Given the description of an element on the screen output the (x, y) to click on. 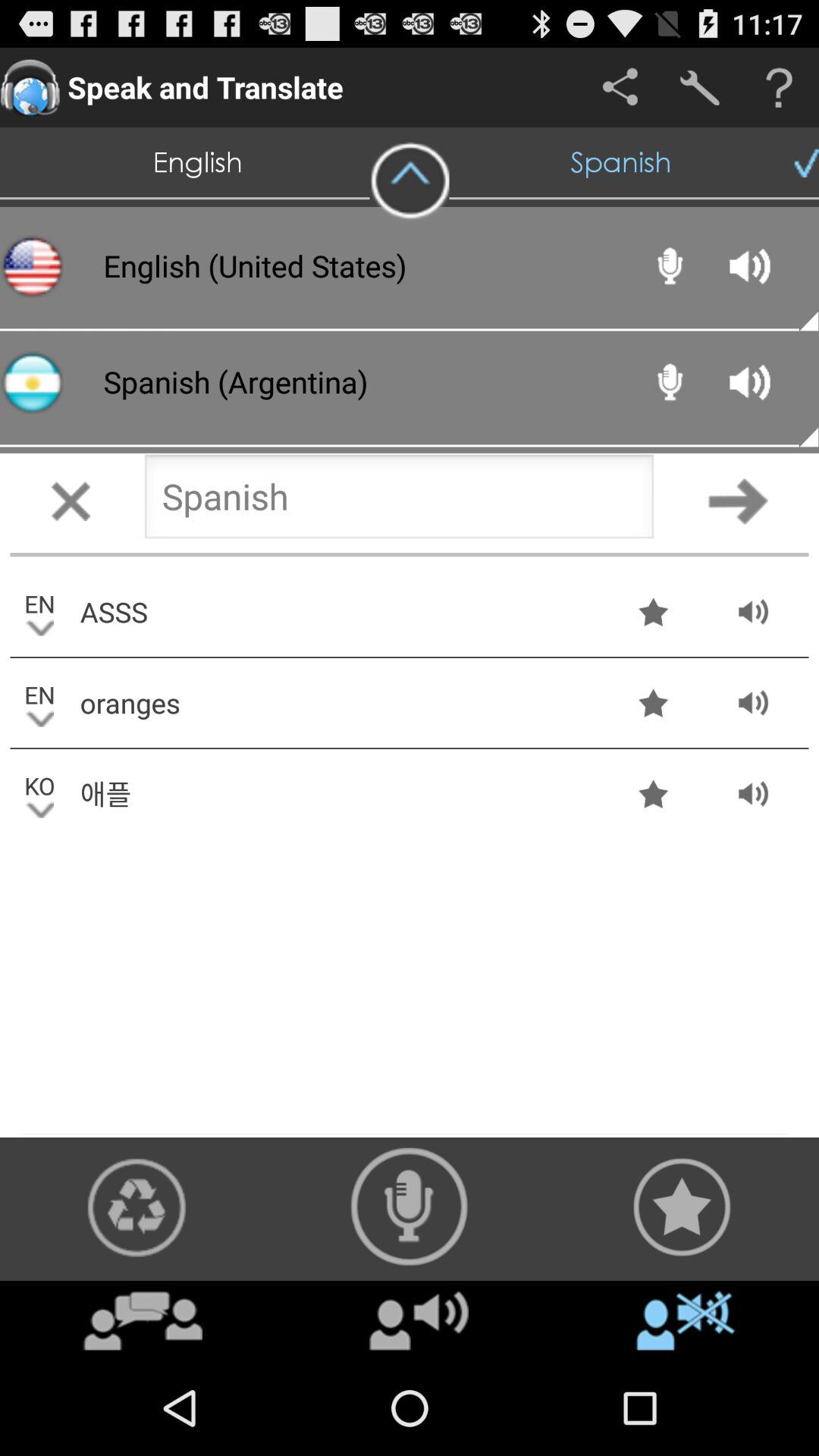
select item next to spanish icon (409, 181)
